Given the description of an element on the screen output the (x, y) to click on. 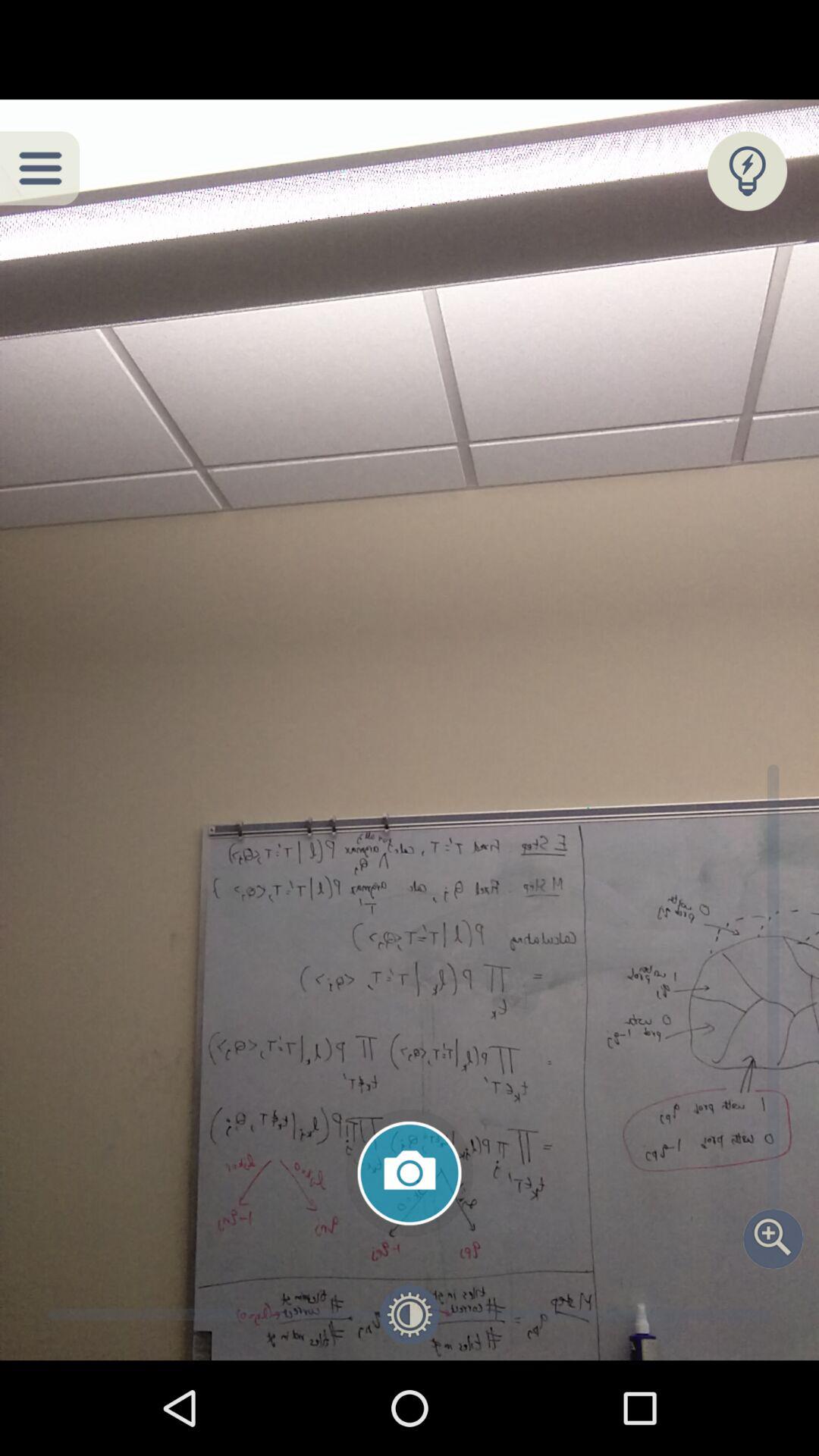
take a picture (409, 1173)
